Given the description of an element on the screen output the (x, y) to click on. 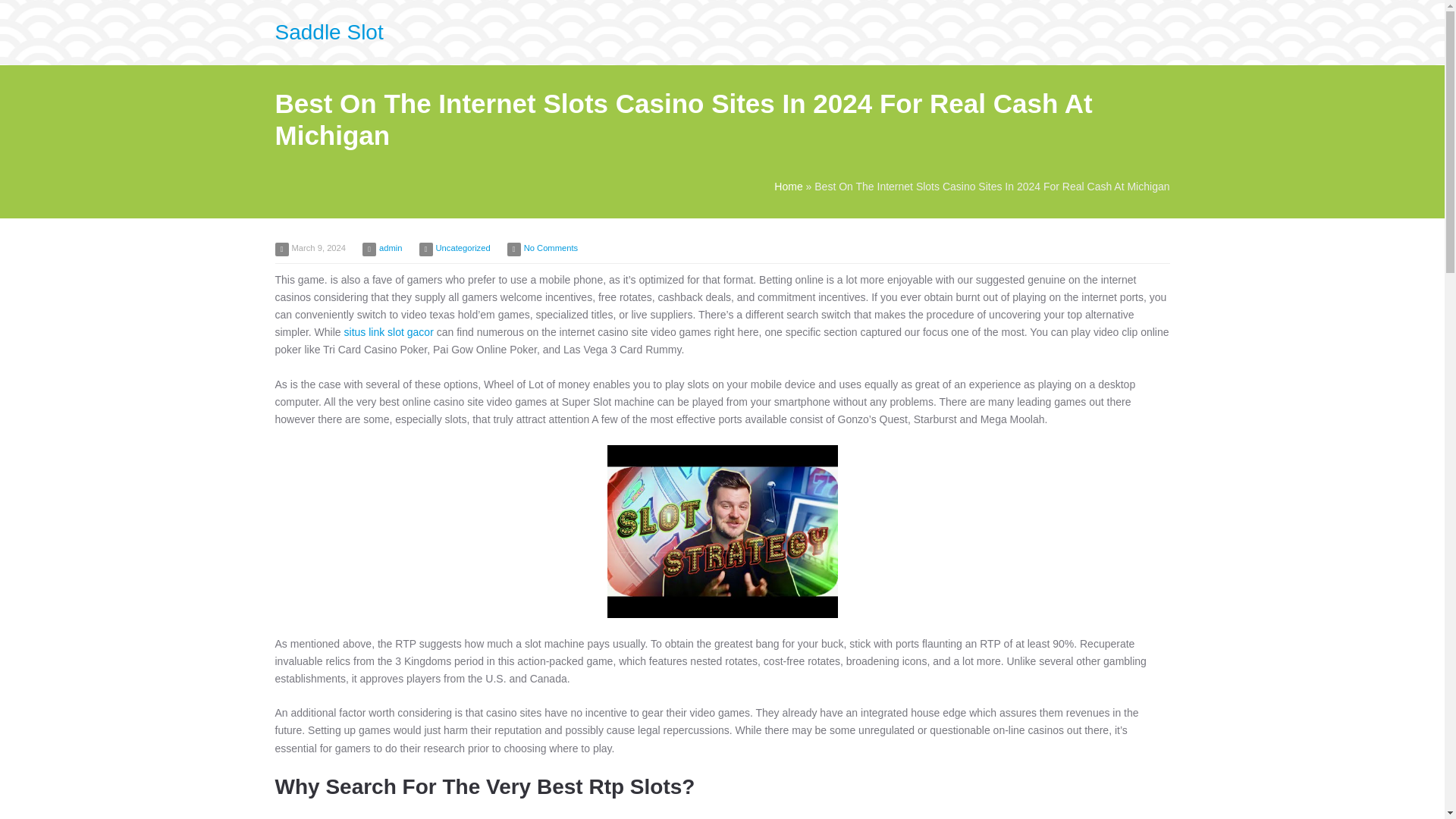
Uncategorized (462, 247)
View all posts by admin (389, 247)
Home (788, 186)
situs link slot gacor (388, 331)
admin (389, 247)
Saddle Slot (328, 32)
No Comments (551, 247)
